Given the description of an element on the screen output the (x, y) to click on. 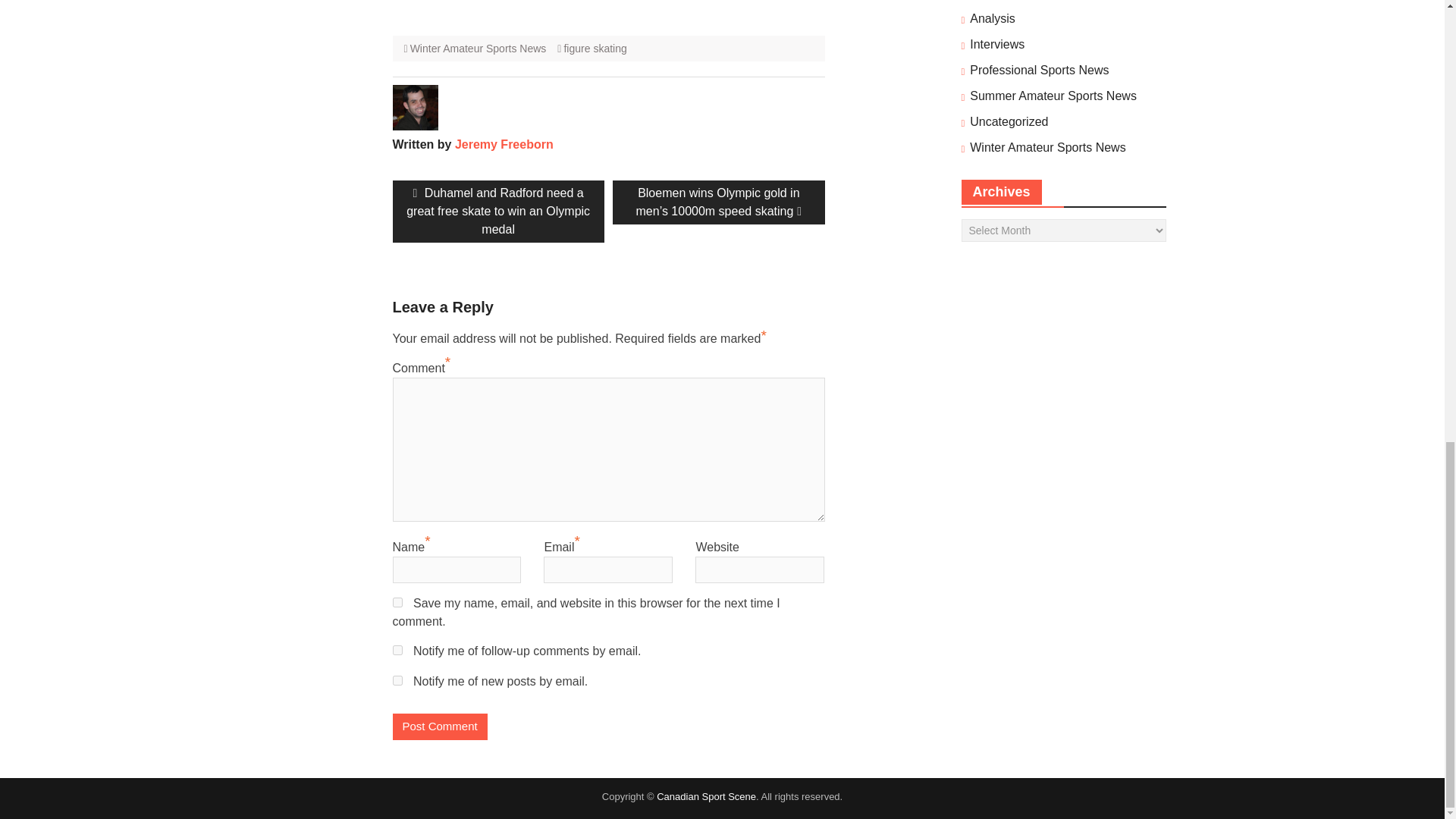
Posts by Jeremy Freeborn (503, 144)
Professional Sports News (1038, 70)
Interviews (997, 45)
subscribe (398, 680)
Summer Amateur Sports News (1053, 95)
Post Comment (440, 726)
Uncategorized (1008, 122)
Winter Amateur Sports News (1047, 147)
yes (398, 602)
subscribe (398, 650)
Post Comment (440, 726)
Jeremy Freeborn (503, 144)
Winter Amateur Sports News (478, 48)
Analysis (991, 18)
